Given the description of an element on the screen output the (x, y) to click on. 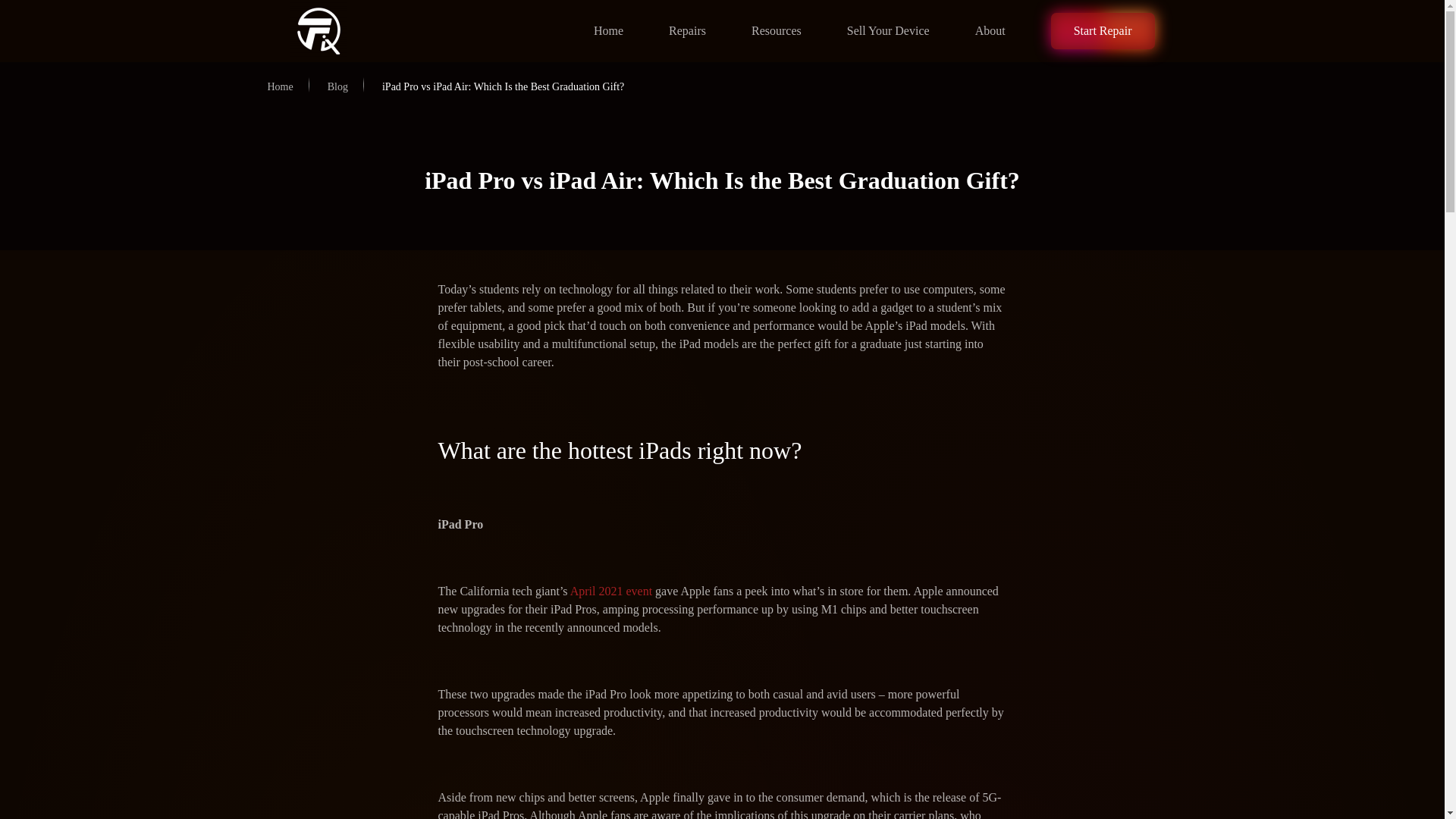
Start Repair (1102, 31)
Home (608, 30)
Resources (776, 30)
Home (279, 86)
About (989, 30)
Repairs (687, 30)
Sell Your Device (888, 30)
About (989, 30)
Repairs (687, 30)
Sell Your Device (888, 30)
